Given the description of an element on the screen output the (x, y) to click on. 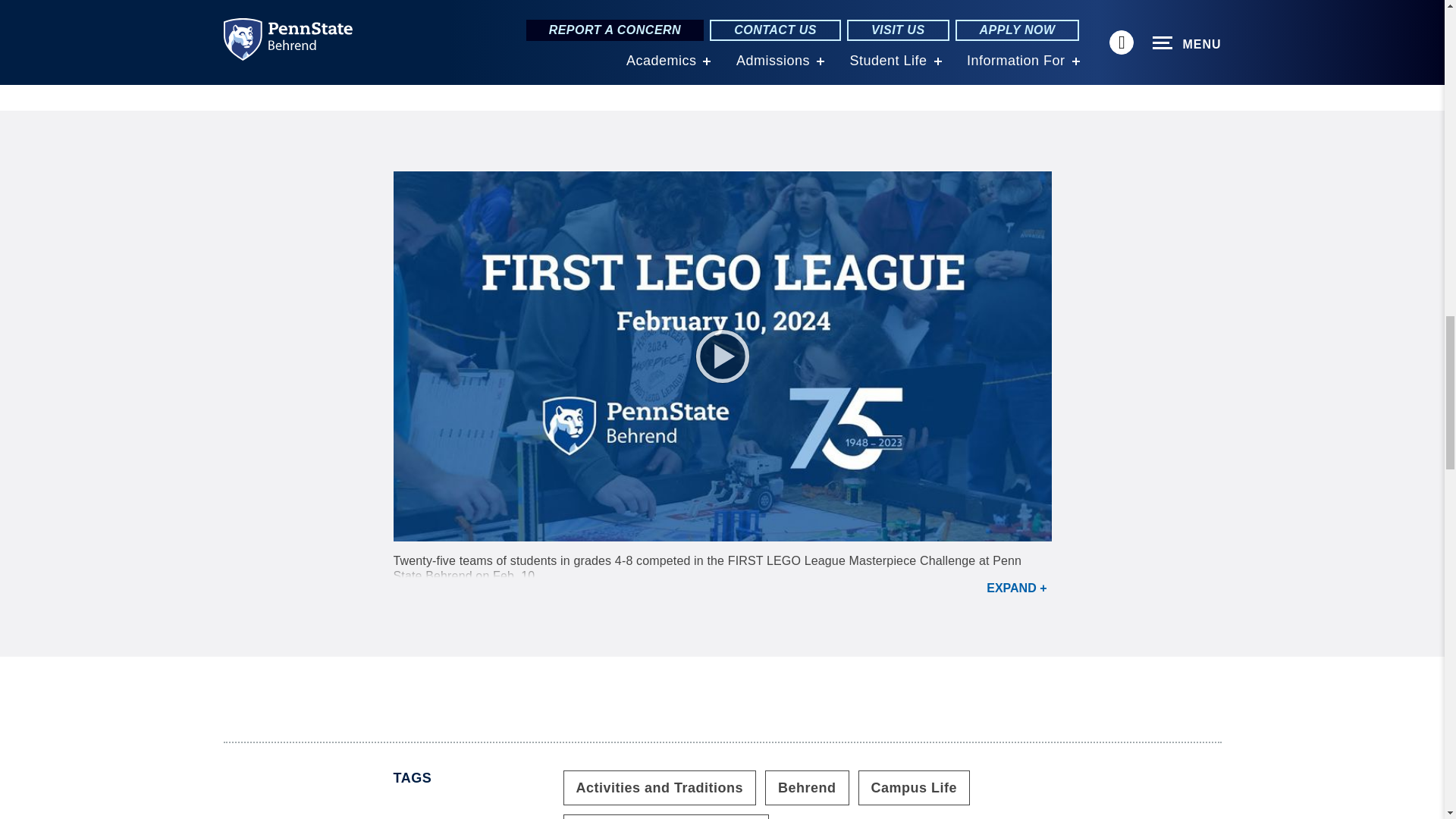
Content tagged with Youth Education Outreach (665, 816)
Content tagged with Activities and Traditions (658, 787)
Content tagged with Campus Life (915, 787)
Content tagged with Behrend (806, 787)
